Given the description of an element on the screen output the (x, y) to click on. 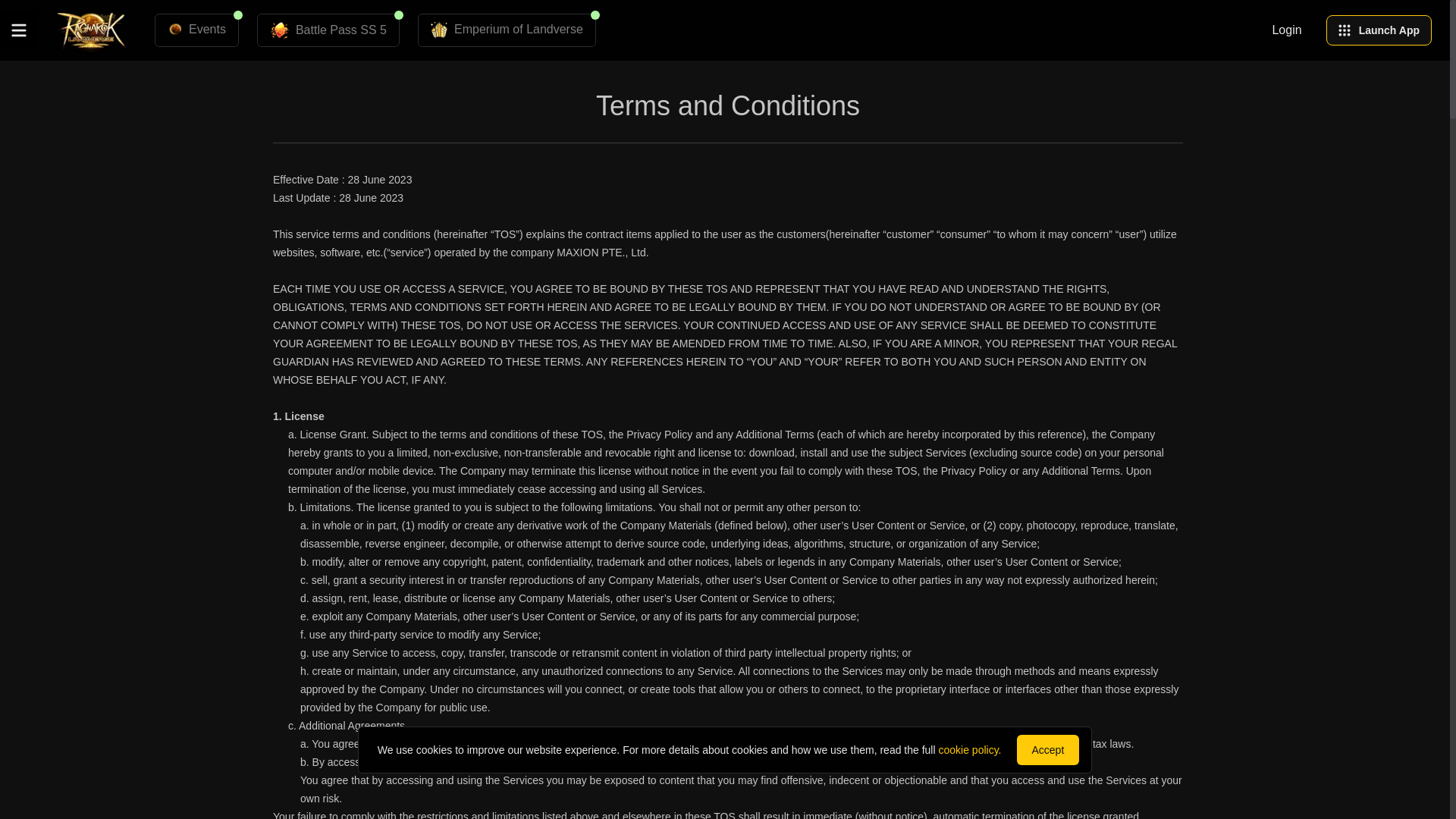
Accept (1047, 749)
Battle Pass SS 5 (327, 29)
Emperium of Landverse (506, 29)
Events (196, 29)
Login (1286, 30)
cookie policy. (969, 749)
